Given the description of an element on the screen output the (x, y) to click on. 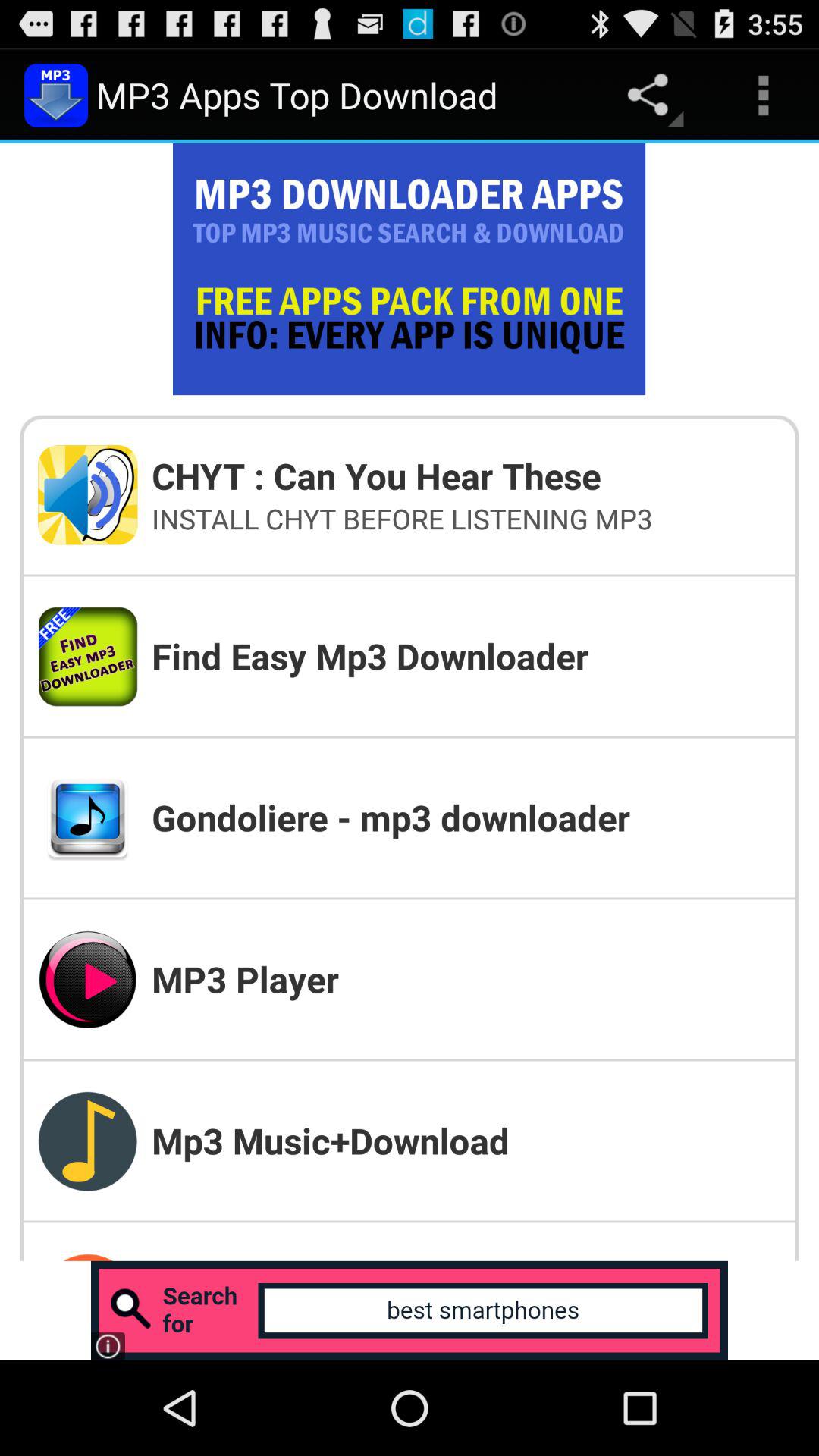
choose icon below the install chyt before (465, 655)
